Given the description of an element on the screen output the (x, y) to click on. 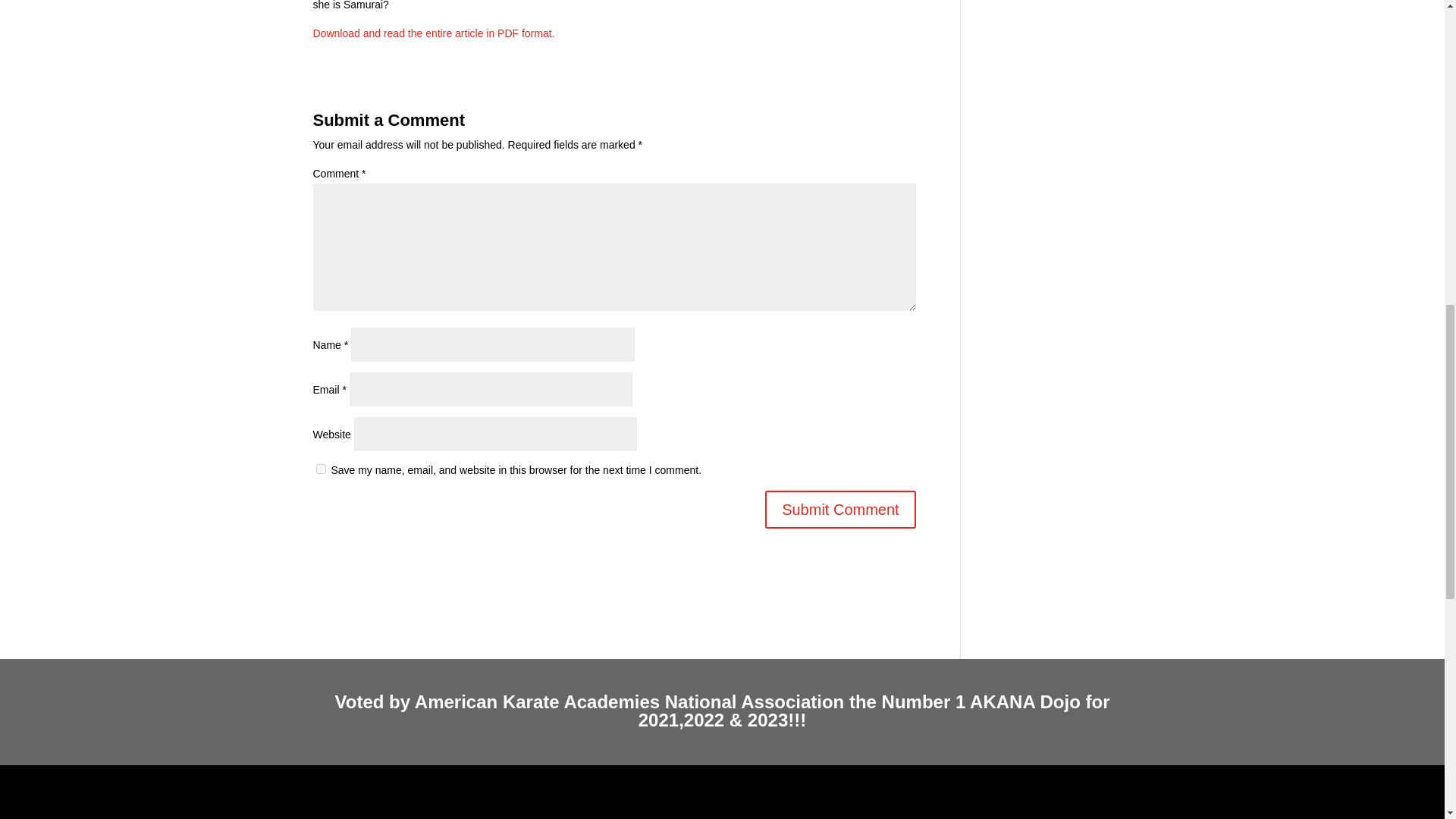
yes (319, 469)
Download and read the entire article in PDF format. (433, 33)
Submit Comment (840, 509)
Submit Comment (840, 509)
